Given the description of an element on the screen output the (x, y) to click on. 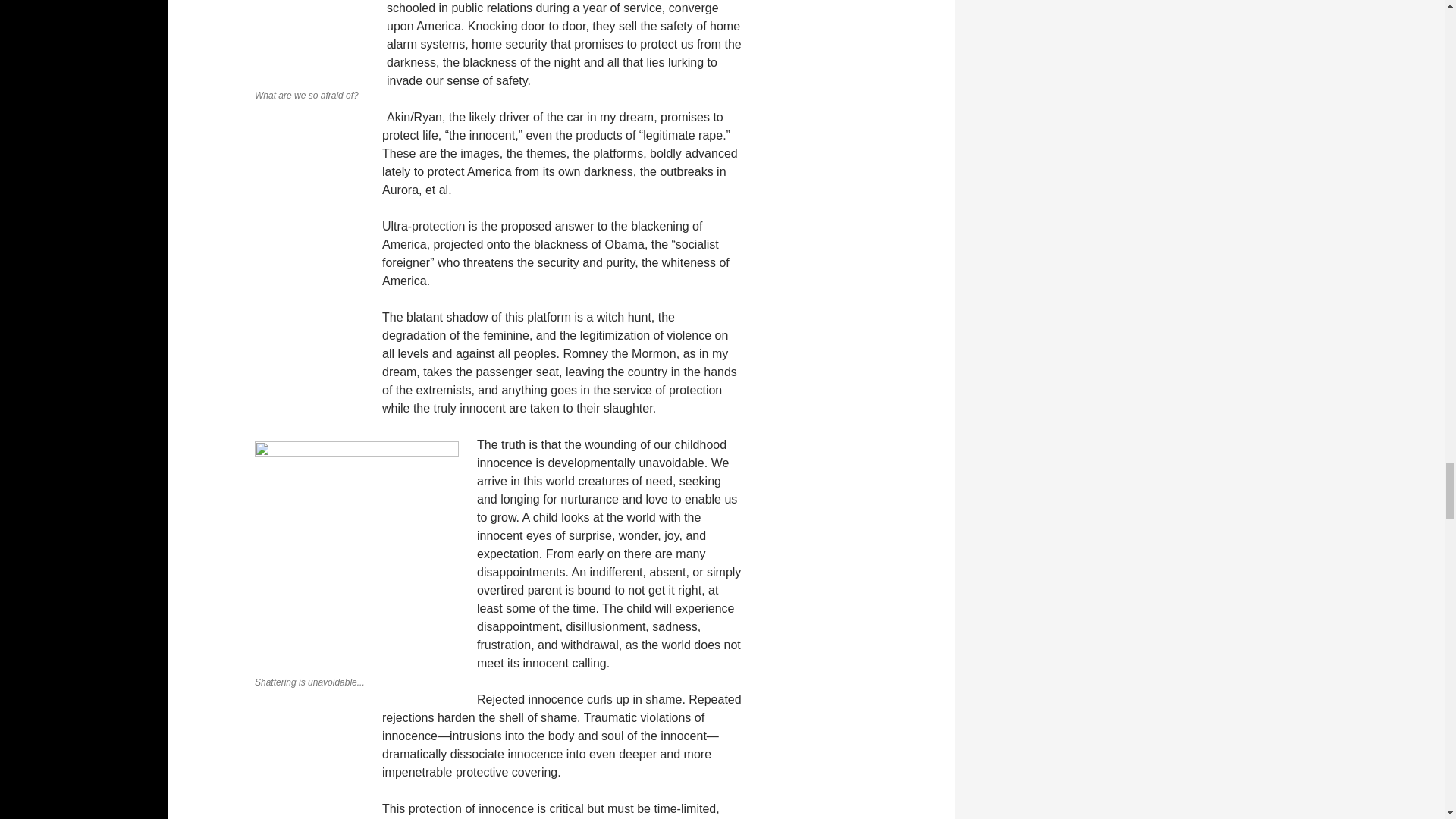
Photo by Jan (311, 40)
Photo by Jan (356, 555)
